Given the description of an element on the screen output the (x, y) to click on. 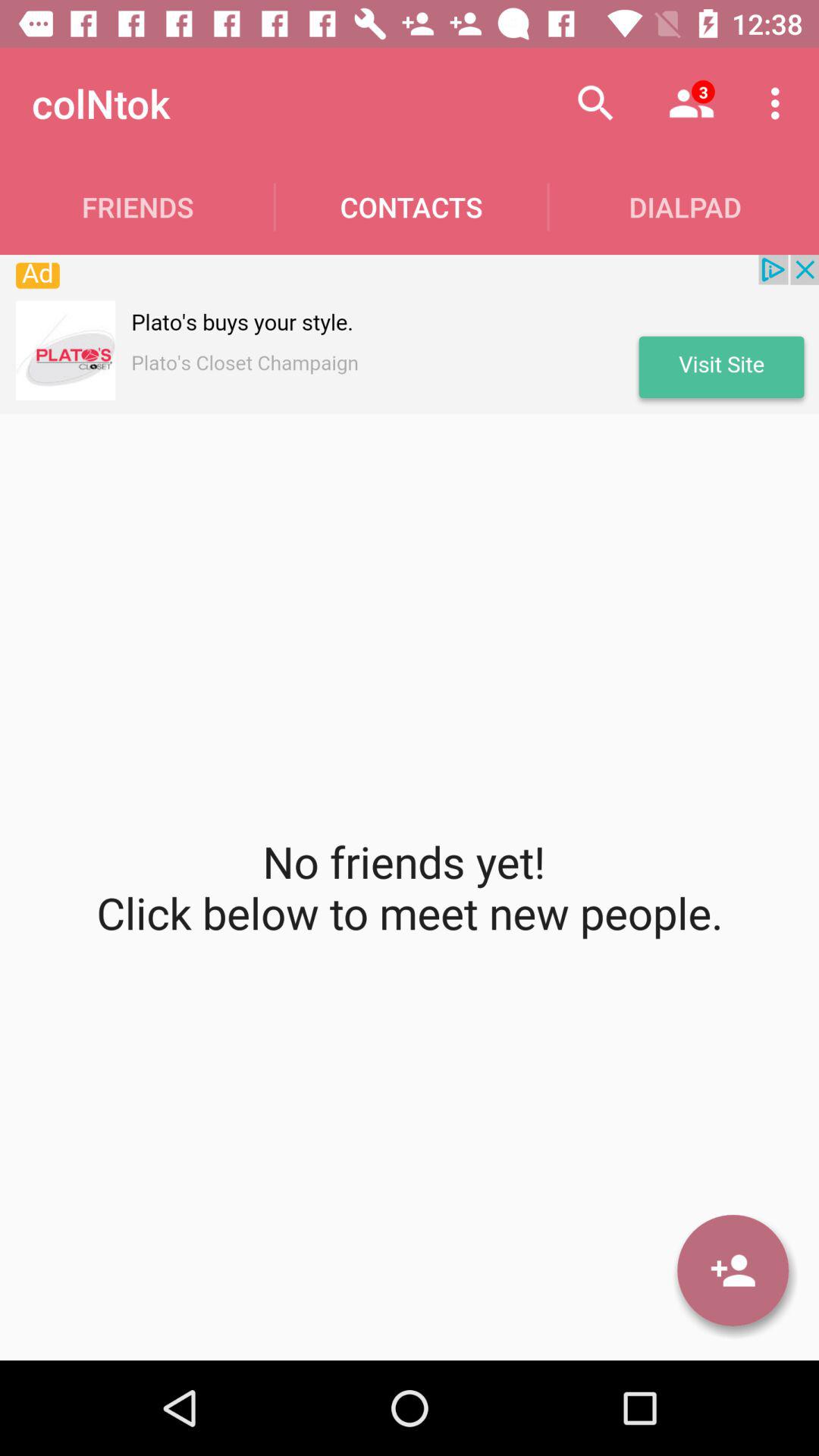
add a friend (733, 1270)
